Given the description of an element on the screen output the (x, y) to click on. 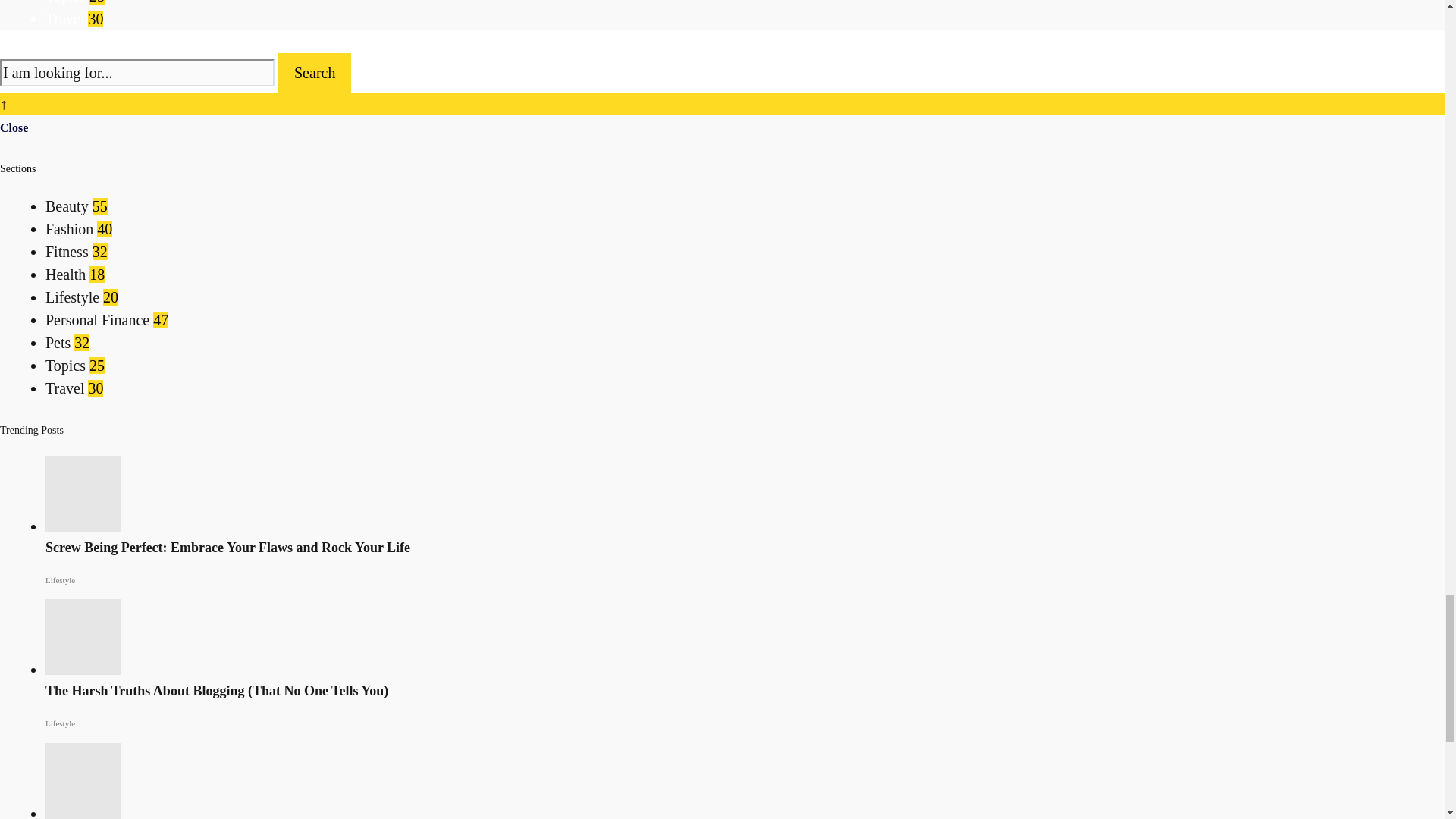
I am looking for... (137, 72)
Screw Being Perfect: Embrace Your Flaws and Rock Your Life (82, 525)
Screw Being Perfect: Embrace Your Flaws and Rock Your Life (227, 547)
